Given the description of an element on the screen output the (x, y) to click on. 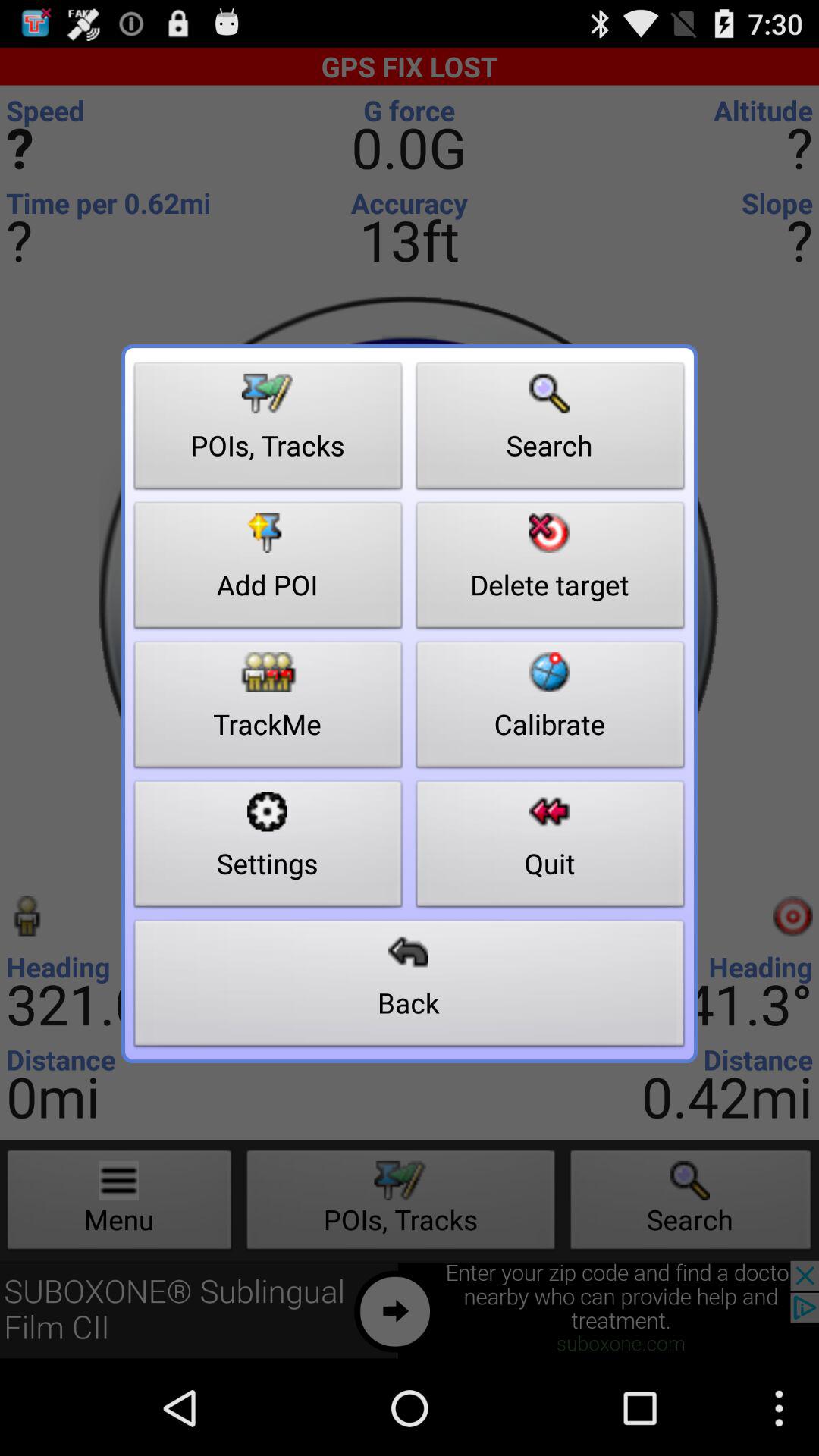
click the button at the bottom (409, 987)
